Given the description of an element on the screen output the (x, y) to click on. 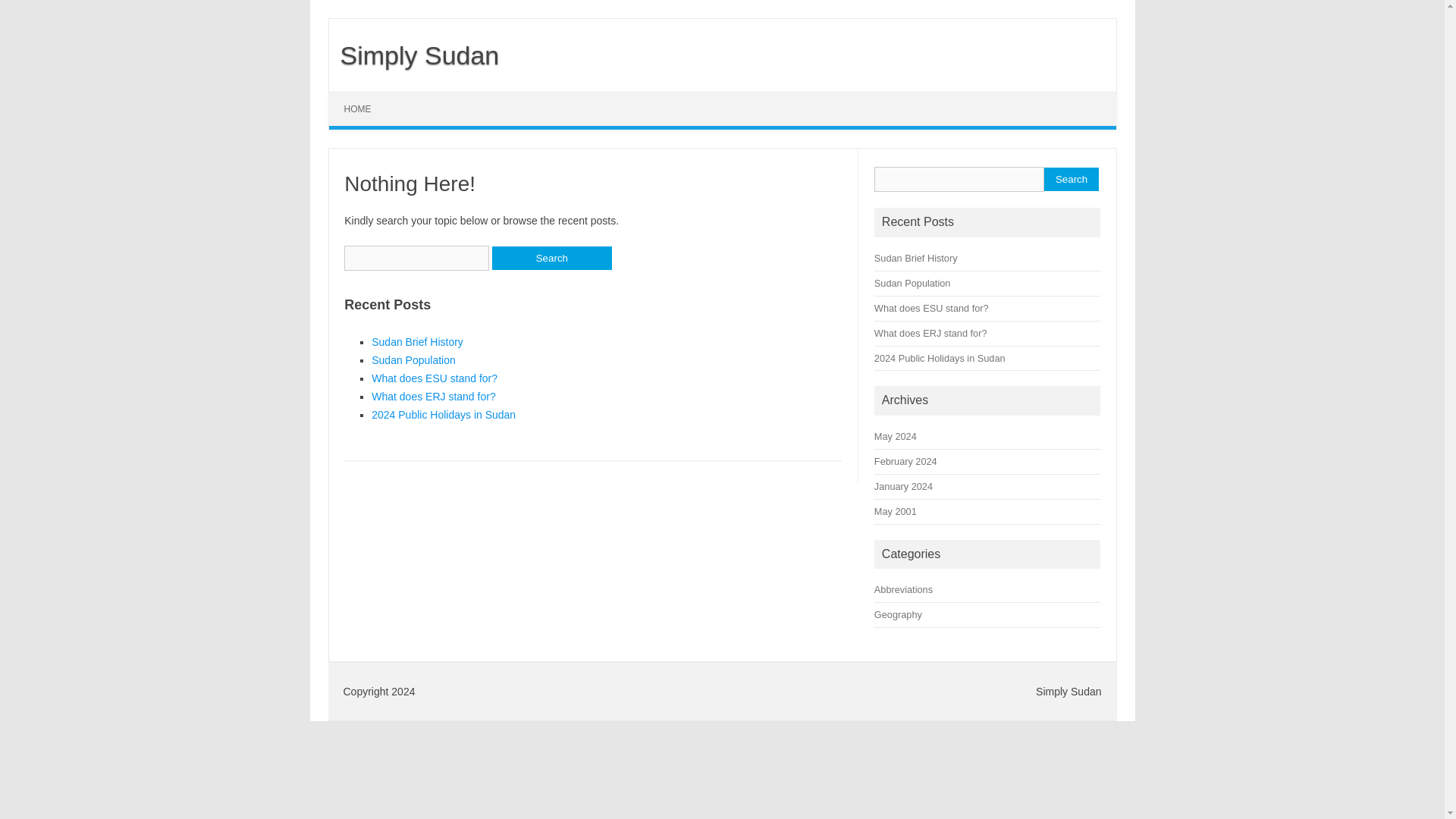
May 2024 (896, 436)
February 2024 (906, 460)
Simply Sudan (414, 54)
2024 Public Holidays in Sudan (443, 414)
Search (1070, 178)
Abbreviations (904, 589)
Geography (898, 614)
Search (551, 258)
2024 Public Holidays in Sudan (940, 357)
Skip to content (363, 96)
HOME (358, 109)
Sudan Brief History (916, 257)
What does ESU stand for? (434, 378)
Skip to content (363, 96)
May 2001 (896, 511)
